Given the description of an element on the screen output the (x, y) to click on. 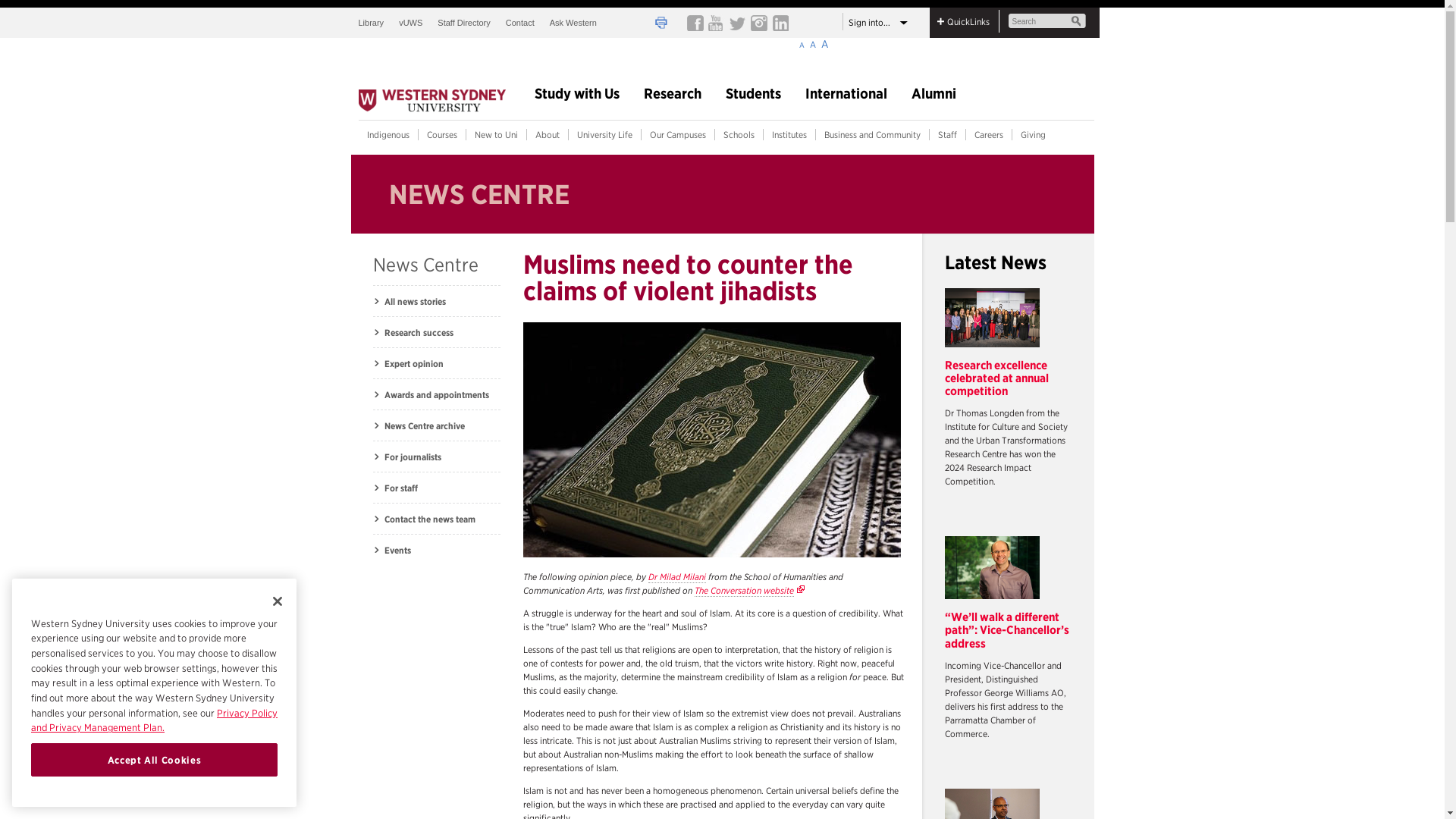
QuickLinks (967, 20)
Staff Directory (463, 22)
Sign into... (879, 21)
vUWS (410, 22)
Library (374, 22)
Contact (519, 22)
Ask Western (572, 22)
